Given the description of an element on the screen output the (x, y) to click on. 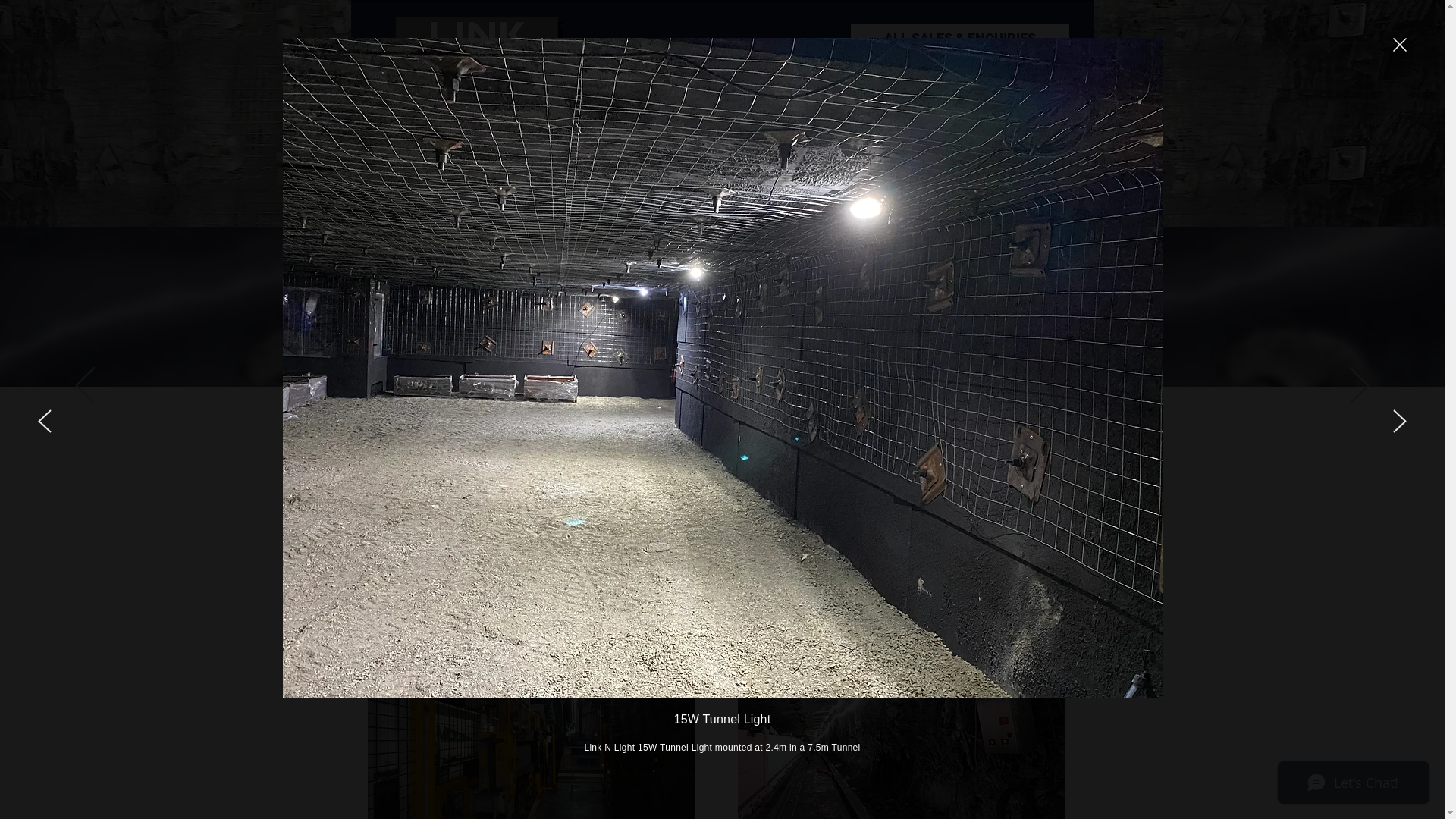
ALL SALES & ENQUIRIES Element type: text (959, 37)
PRODUCTS Element type: text (981, 208)
TECHNICAL SPECIFICATIONS Element type: text (853, 208)
DOWNLOADS Element type: text (483, 208)
ABOUT LINK N LIGHT Element type: text (596, 208)
HOW IT WORKS Element type: text (716, 208)
COMPASS_ISO9001_long.jpg Element type: hover (710, 85)
HOME Element type: text (406, 208)
